Given the description of an element on the screen output the (x, y) to click on. 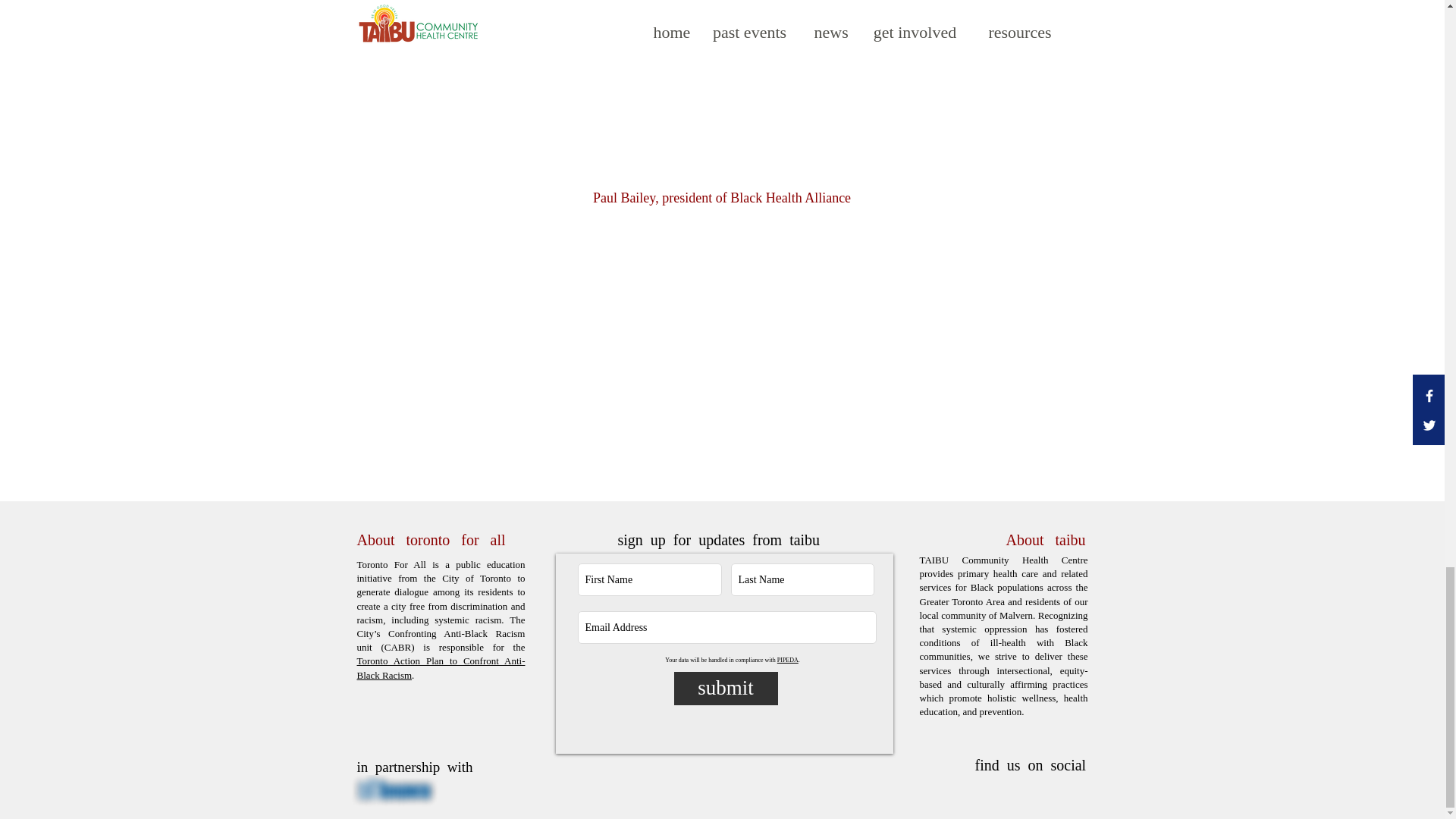
Toronto Action Plan to Confront Anti-Black Racism (440, 667)
submit (724, 688)
Embedded Content (722, 87)
PIPEDA (787, 659)
Embedded Content (722, 344)
